Given the description of an element on the screen output the (x, y) to click on. 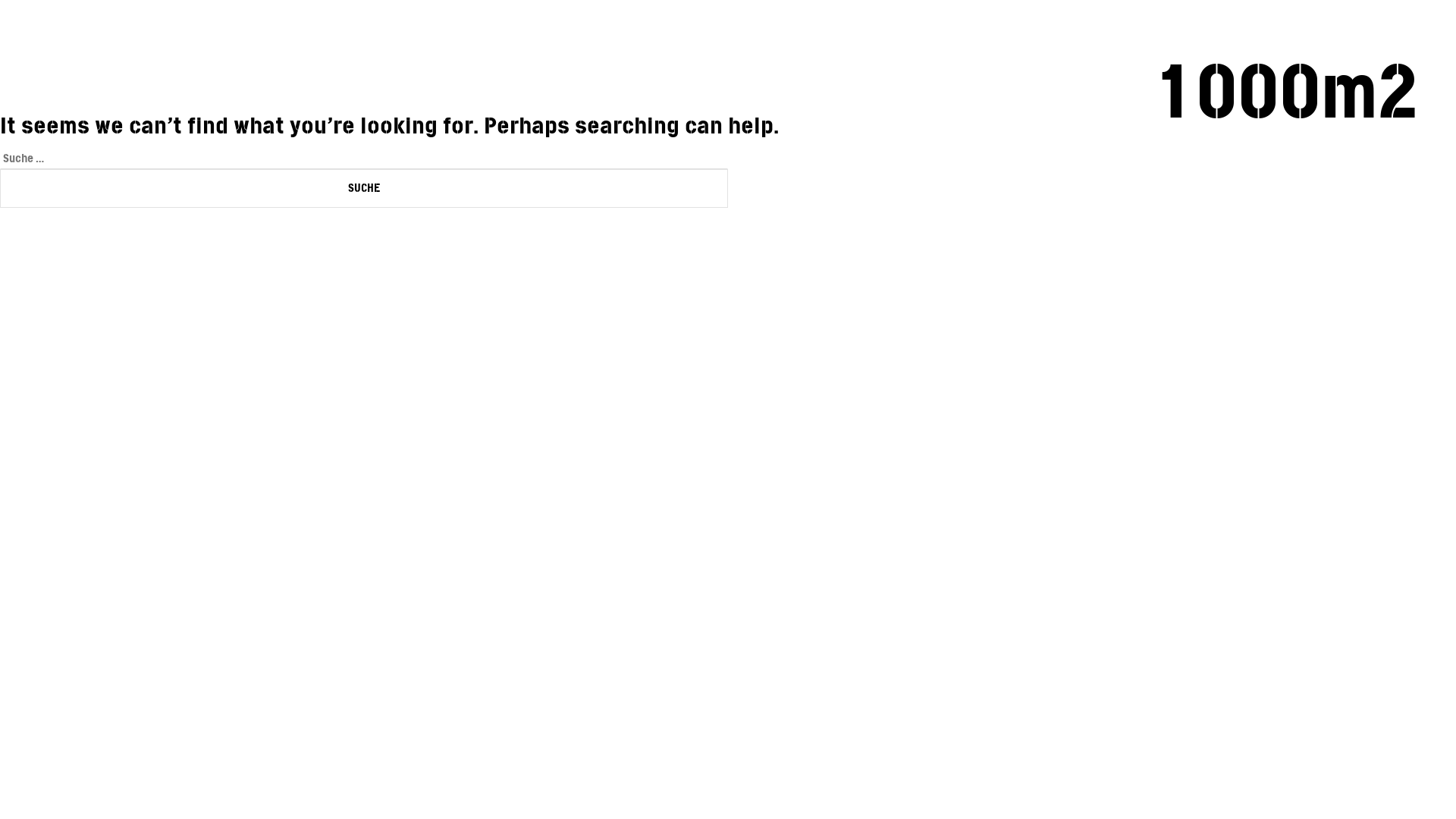
Suche Element type: text (364, 188)
Skip to content Element type: text (0, 0)
